Given the description of an element on the screen output the (x, y) to click on. 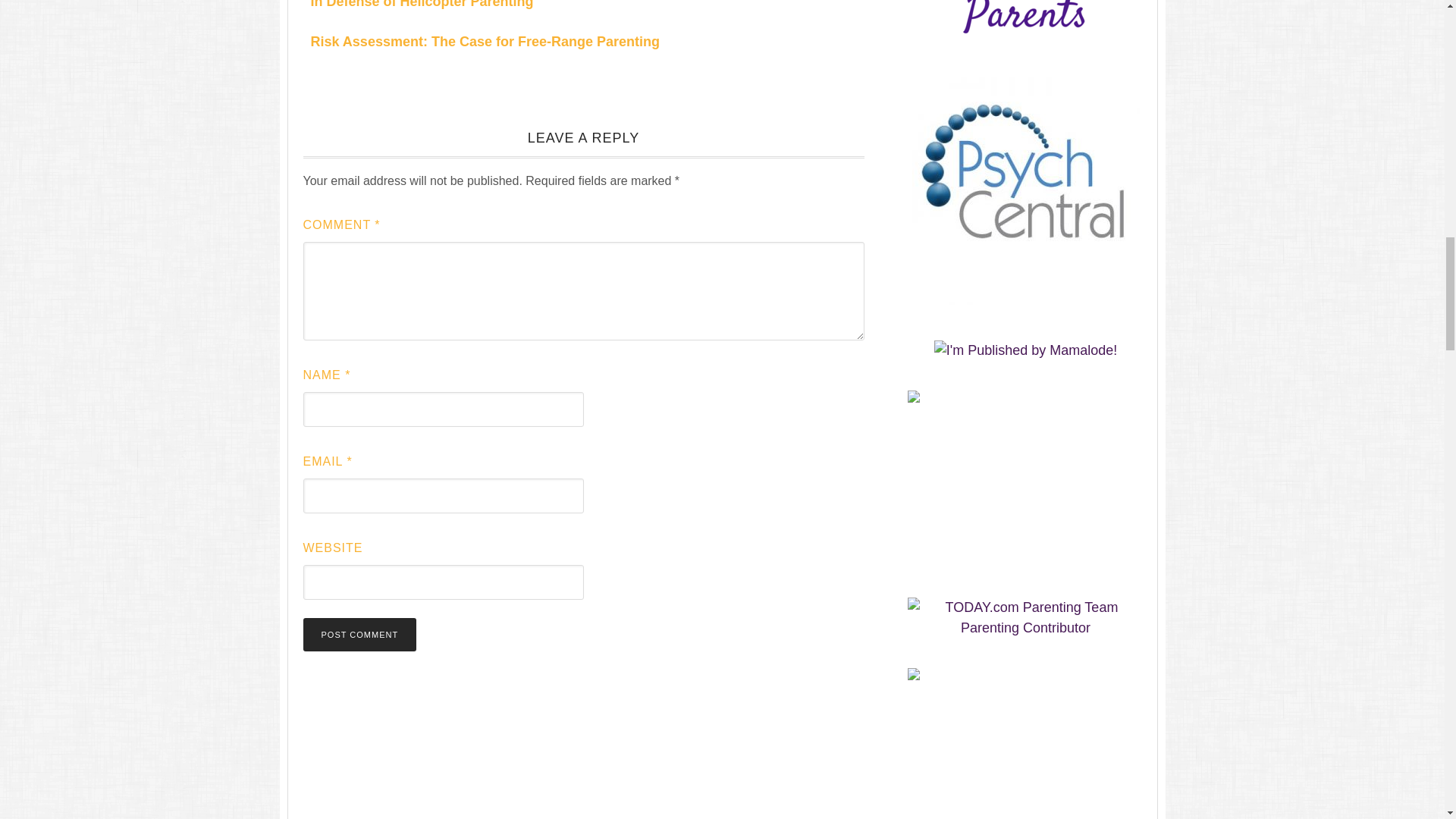
In Defense of Helicopter Parenting (422, 4)
Post Comment (359, 634)
In Defense of Helicopter Parenting (422, 4)
Risk Assessment: The Case for Free-Range Parenting (485, 41)
Post Comment (359, 634)
Risk Assessment (485, 41)
